Given the description of an element on the screen output the (x, y) to click on. 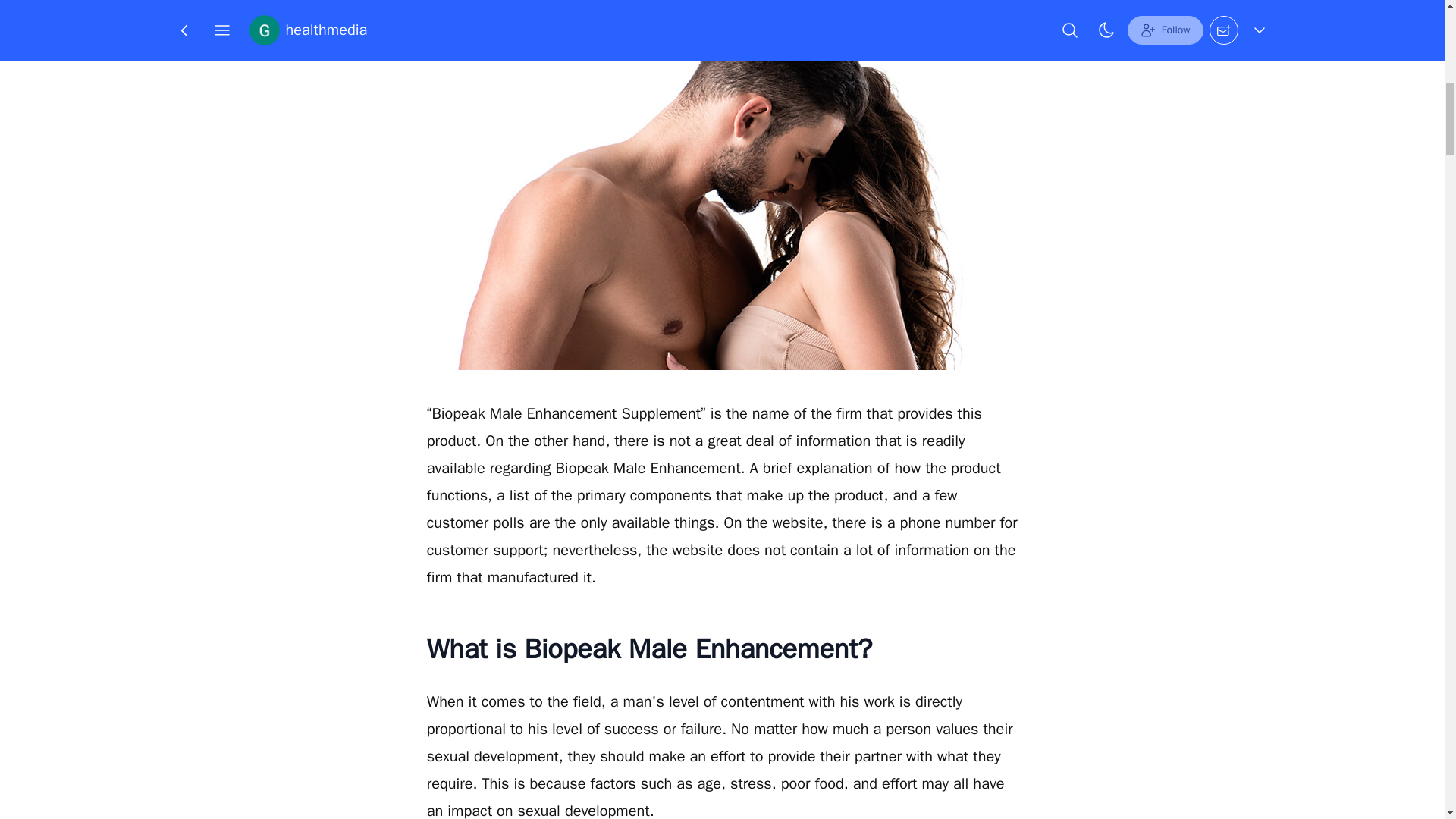
Add Bookmark (743, 24)
